Given the description of an element on the screen output the (x, y) to click on. 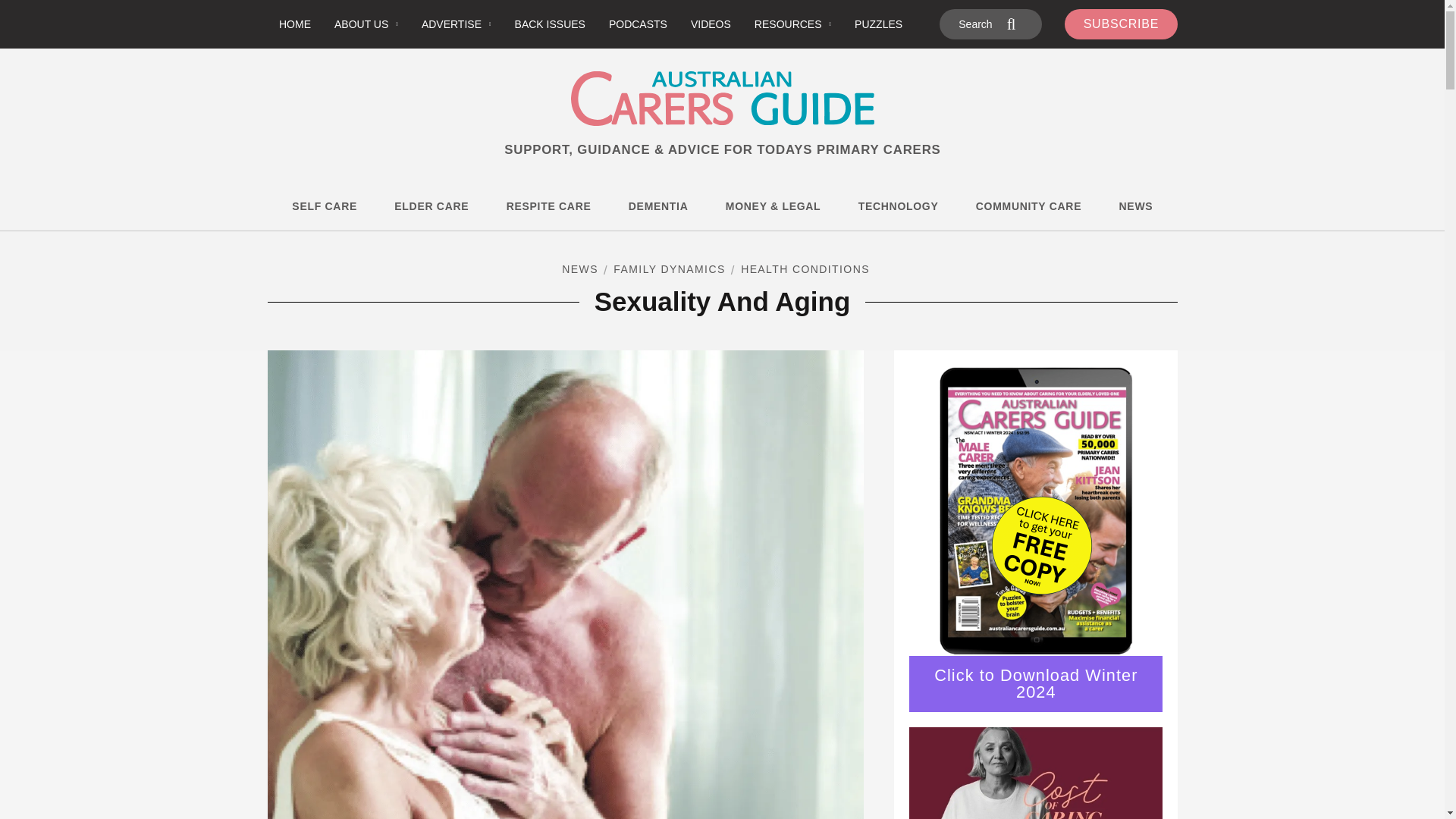
FAMILY DYNAMICS (667, 271)
SUBSCRIBE (1120, 24)
ABOUT US (366, 24)
ELDER CARE (430, 205)
DEMENTIA (658, 205)
VIDEOS (710, 24)
RESOURCES (792, 24)
NEWS (579, 271)
SELF CARE (324, 205)
BACK ISSUES (549, 24)
